Given the description of an element on the screen output the (x, y) to click on. 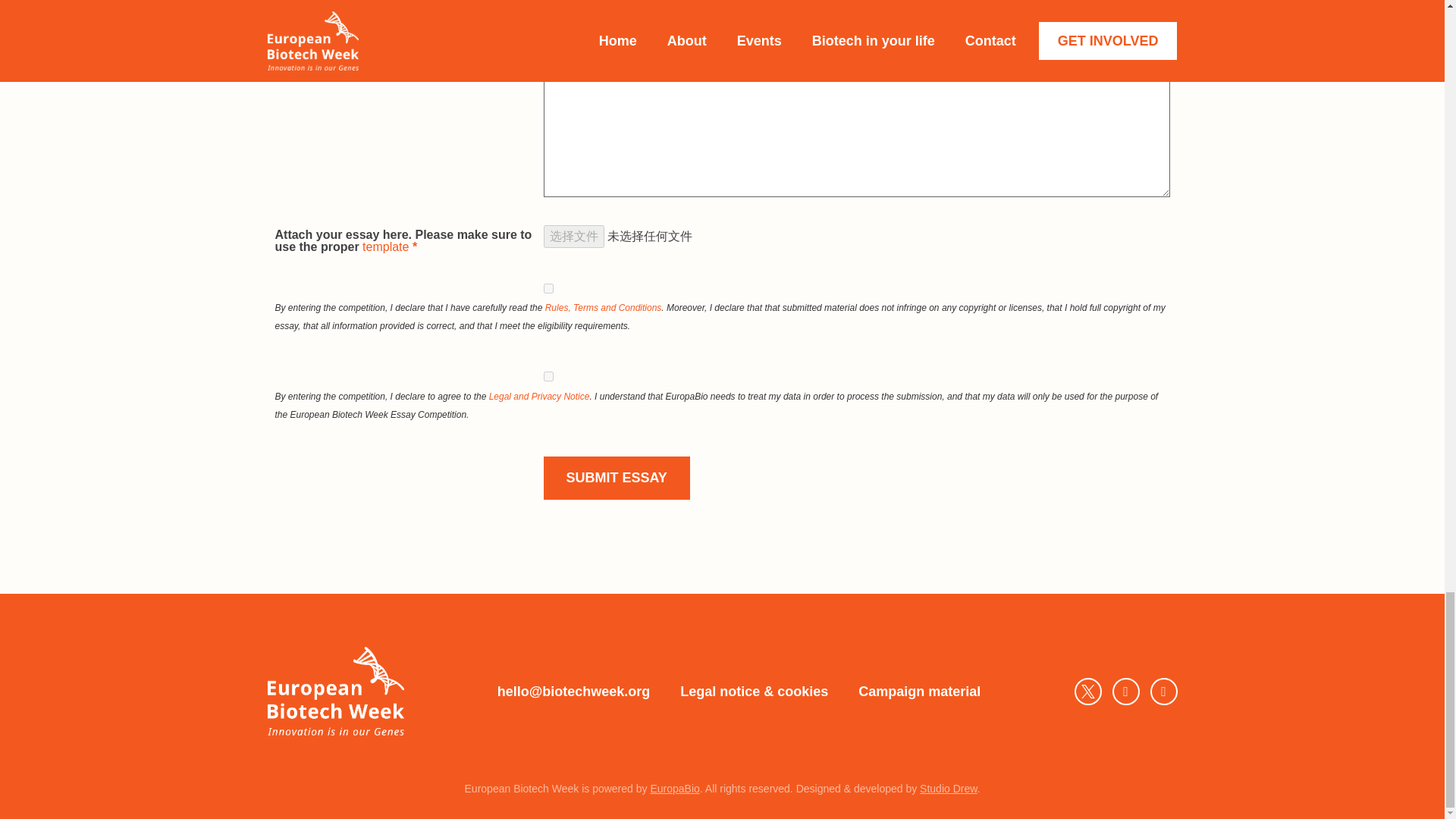
Submit essay (615, 477)
1 (548, 288)
1 (548, 376)
template (385, 246)
